Given the description of an element on the screen output the (x, y) to click on. 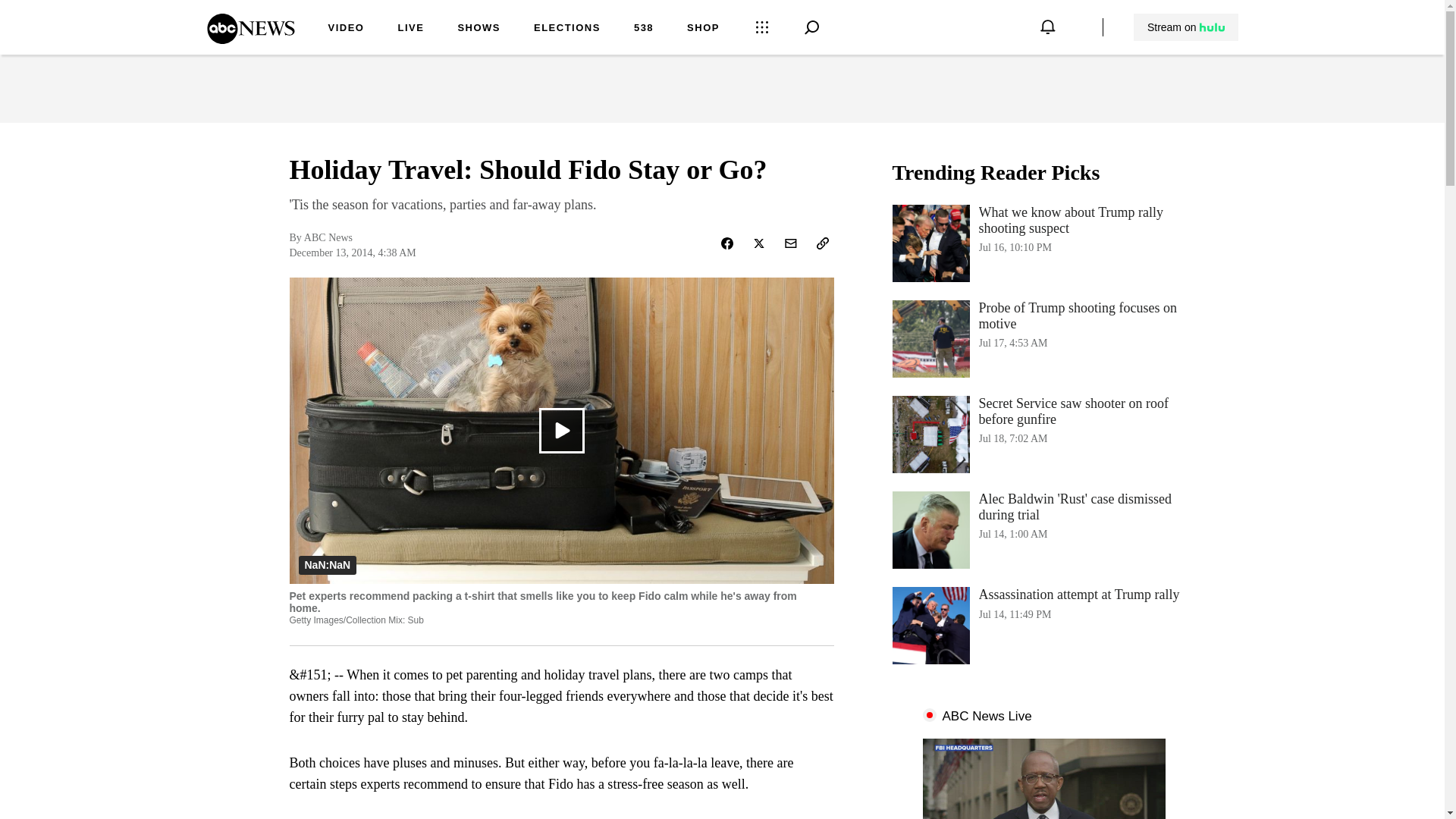
538 (643, 28)
ABC News (250, 38)
Stream on (1186, 26)
SHOWS (1043, 338)
LIVE (478, 28)
VIDEO (410, 28)
ELECTIONS (345, 28)
Stream on (566, 28)
SHOP (1185, 27)
